Given the description of an element on the screen output the (x, y) to click on. 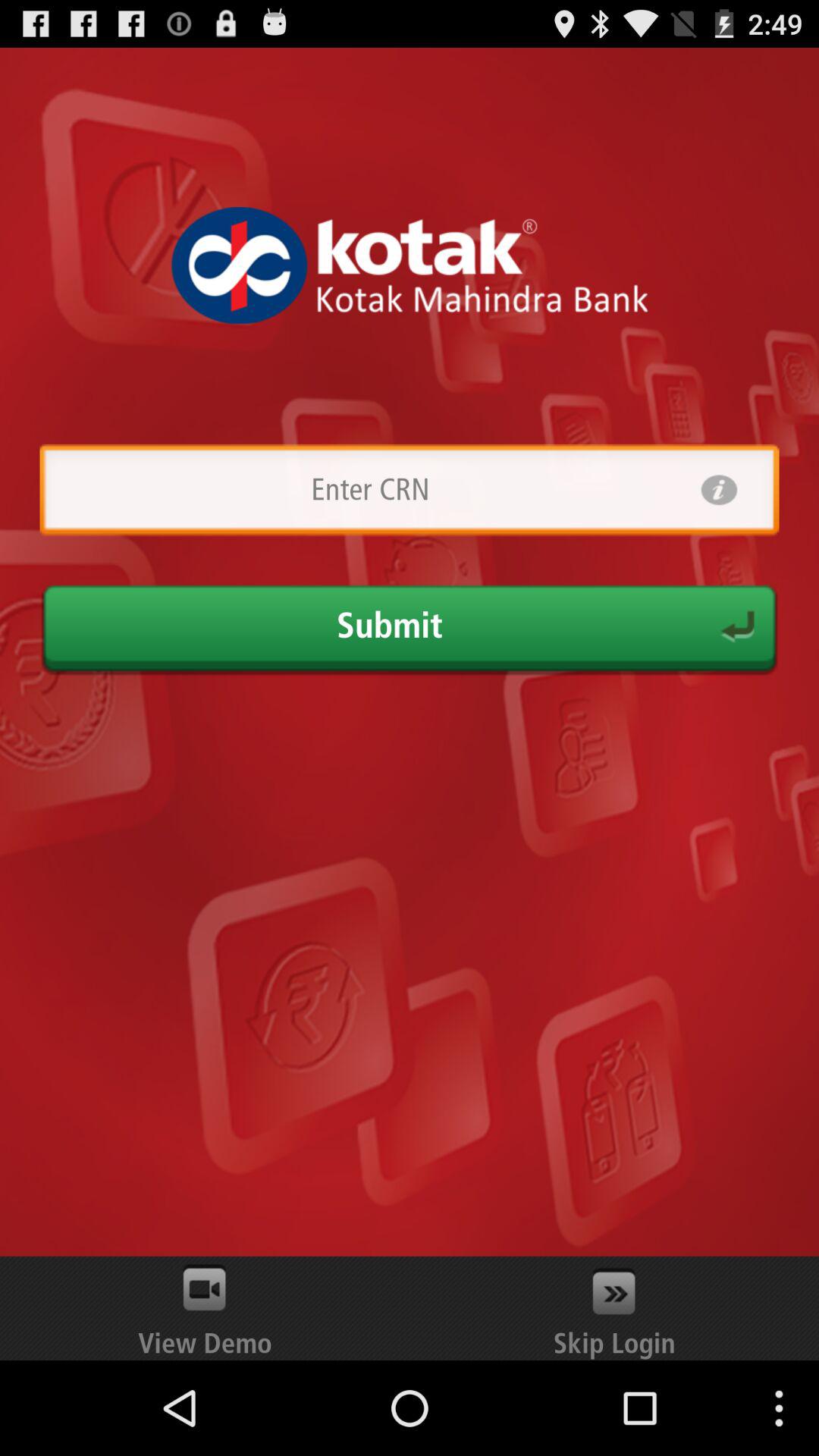
information (719, 489)
